Given the description of an element on the screen output the (x, y) to click on. 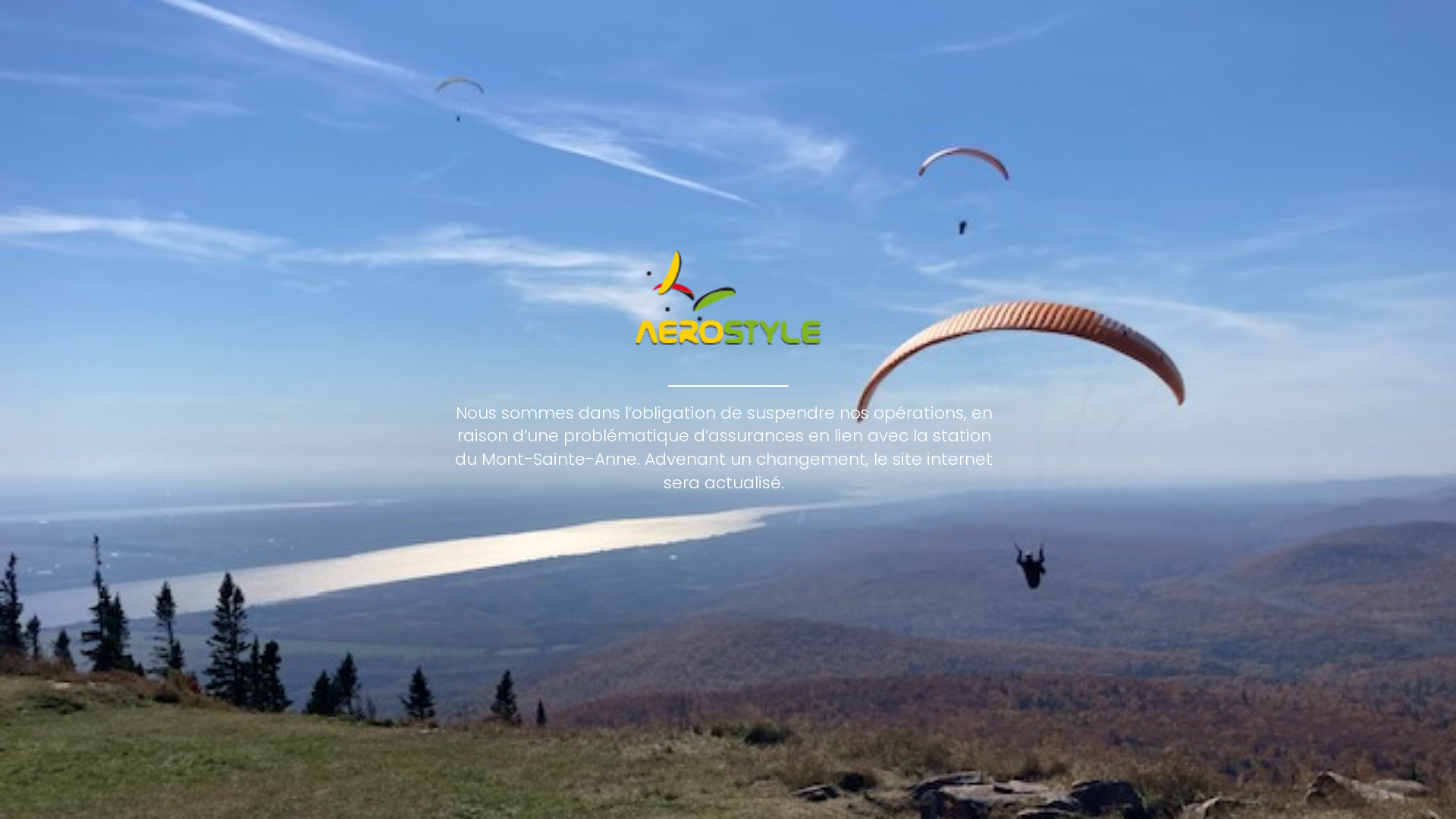
aerostyle Element type: hover (727, 297)
